Given the description of an element on the screen output the (x, y) to click on. 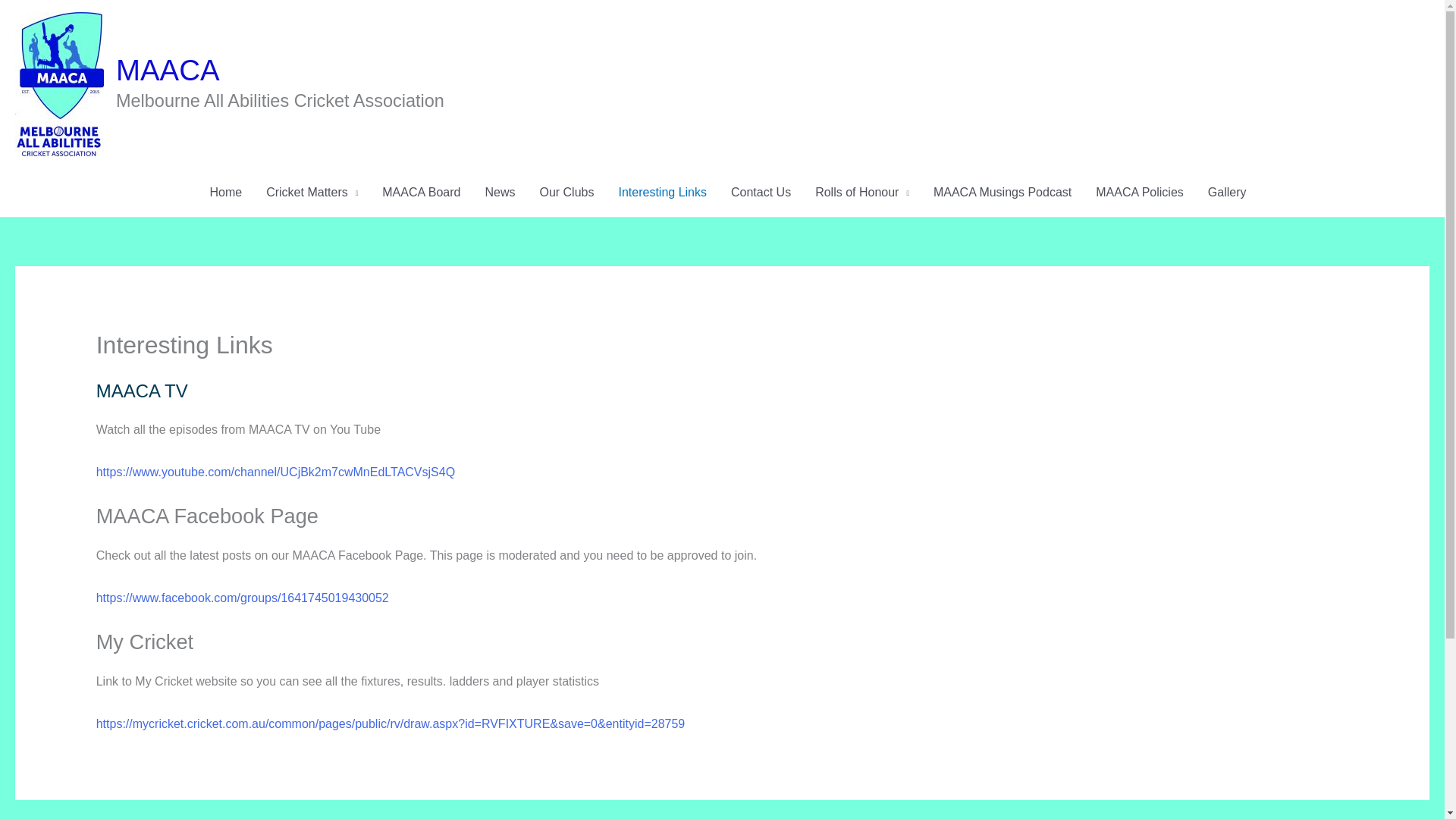
MAACA (167, 70)
Cricket Matters (311, 192)
Our Clubs (566, 192)
MAACA Board (420, 192)
MAACA Musings Podcast (1002, 192)
MAACA Policies (1139, 192)
Home (224, 192)
News (499, 192)
Rolls of Honour (862, 192)
Gallery (1227, 192)
